Given the description of an element on the screen output the (x, y) to click on. 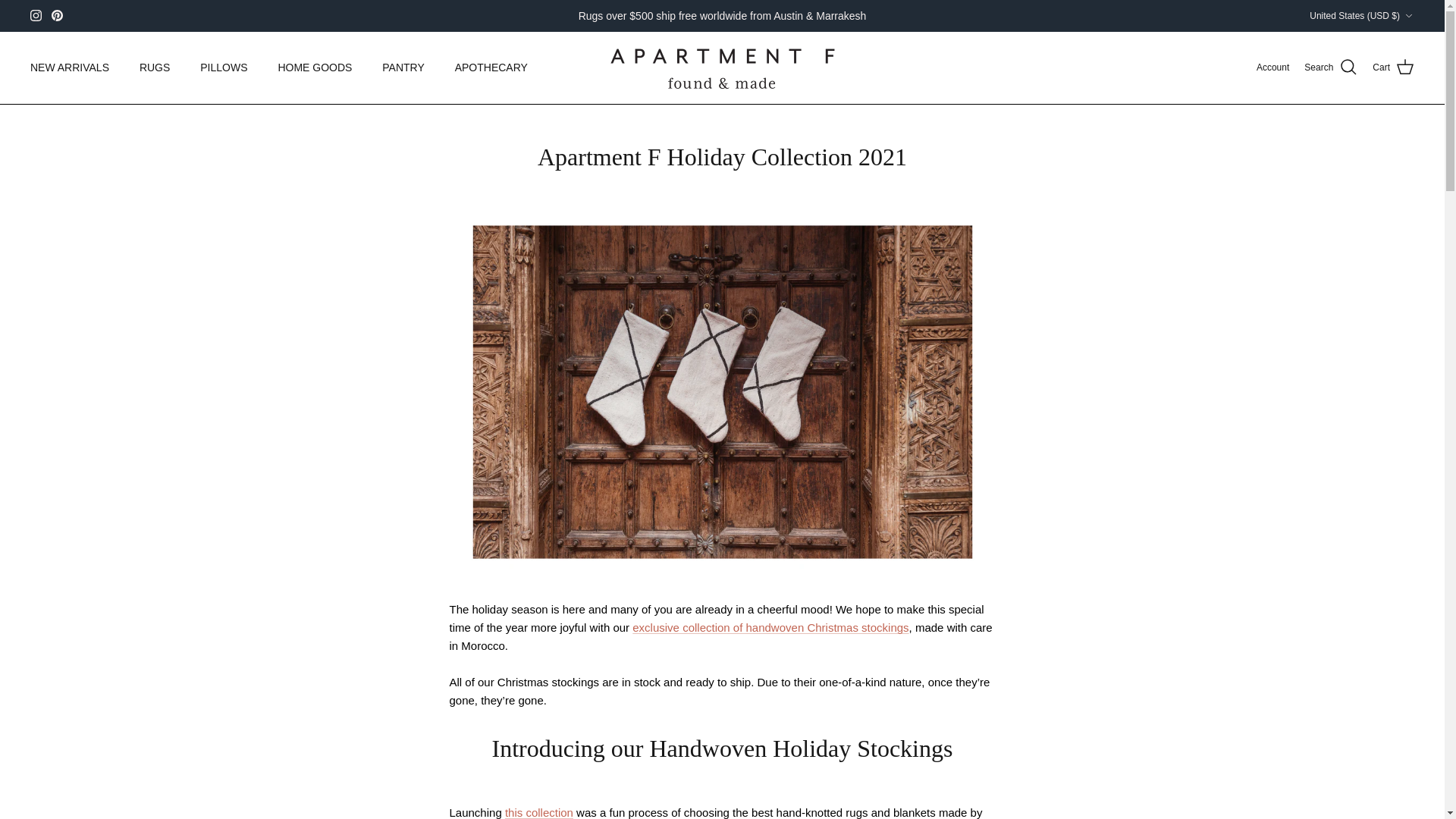
Apartment F (721, 67)
Instagram (36, 15)
Pinterest (56, 15)
Down (1408, 15)
Pinterest (56, 15)
Instagram (36, 15)
